Given the description of an element on the screen output the (x, y) to click on. 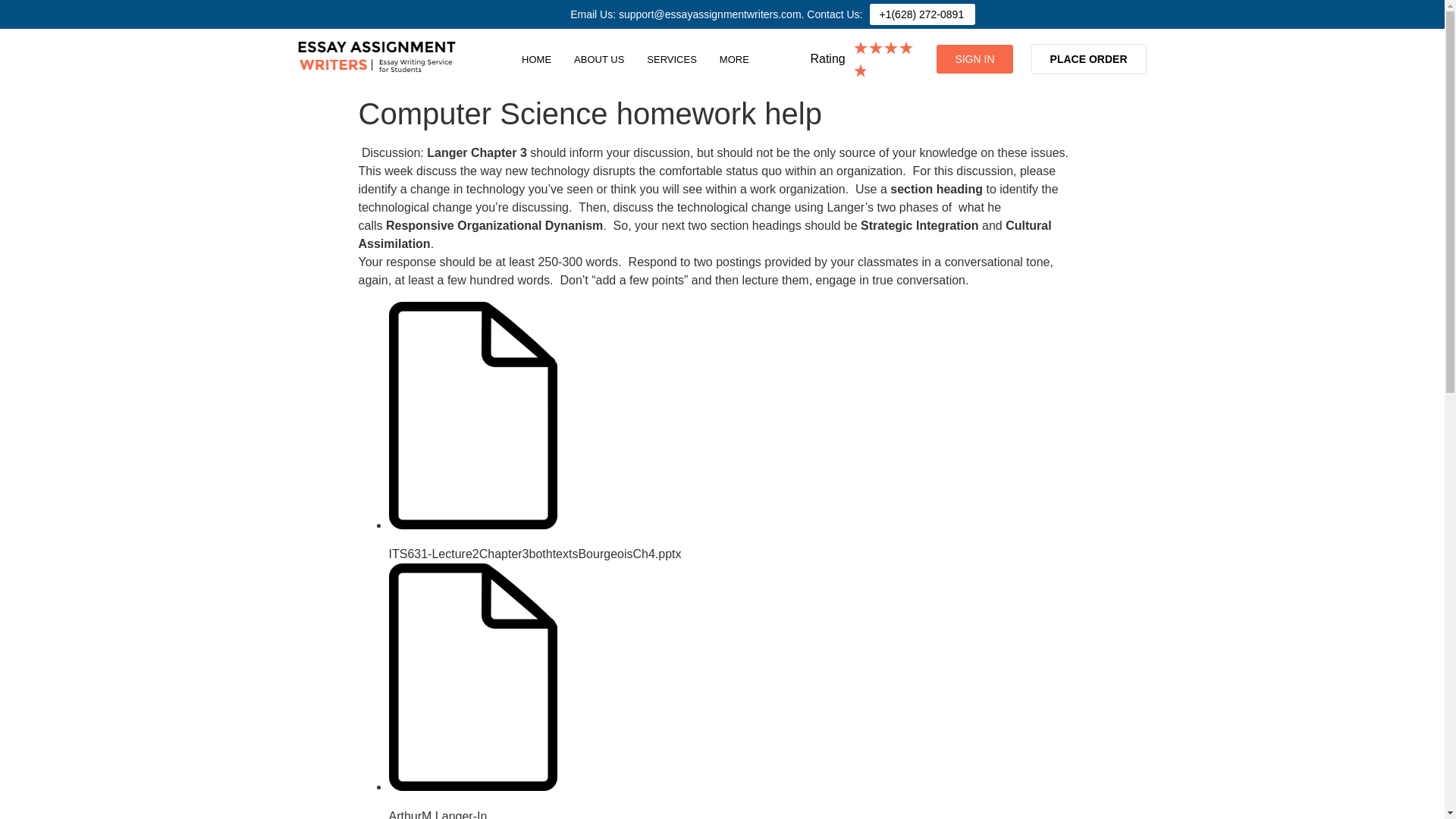
ABOUT US (598, 58)
SERVICES (670, 58)
SIGN IN (973, 59)
HOME (536, 58)
PLACE ORDER (1088, 59)
MORE (737, 58)
